Given the description of an element on the screen output the (x, y) to click on. 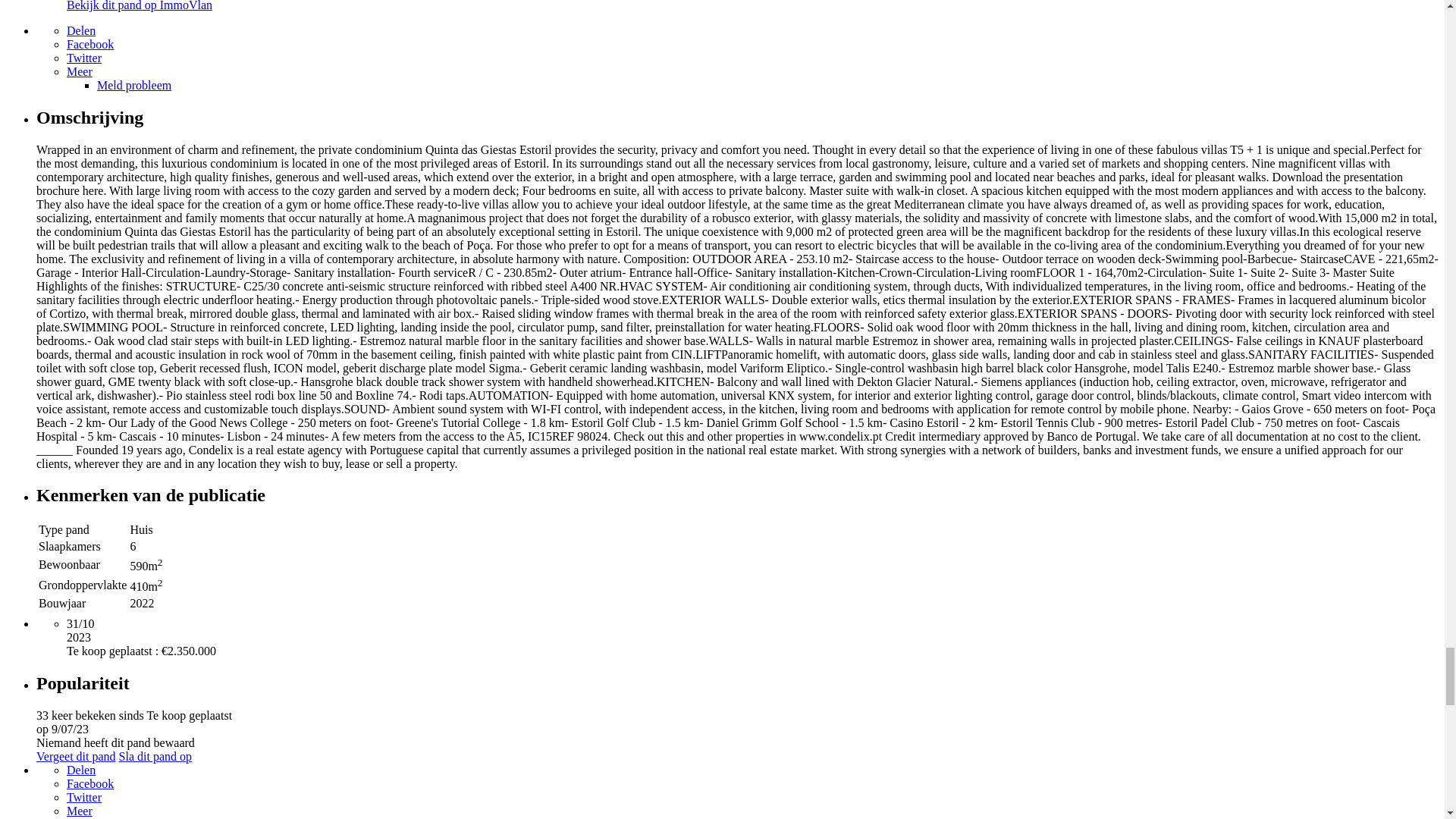
Meer (79, 71)
Bekijk dit pand op ImmoVlan (139, 5)
Facebook (89, 43)
Vergeet dit pand (76, 756)
Delen (81, 30)
Meld probleem (134, 84)
Twitter (83, 57)
